Given the description of an element on the screen output the (x, y) to click on. 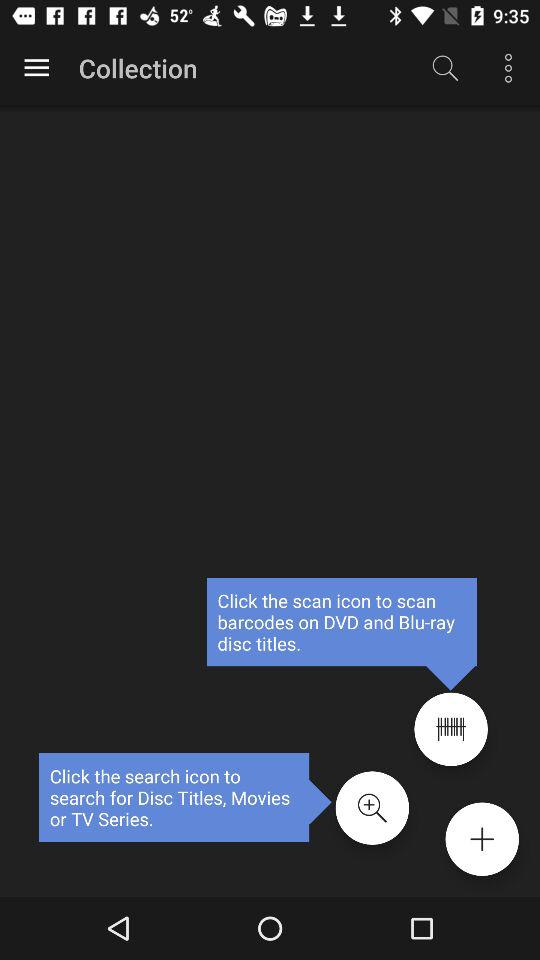
go to scan bar codes (450, 729)
